Given the description of an element on the screen output the (x, y) to click on. 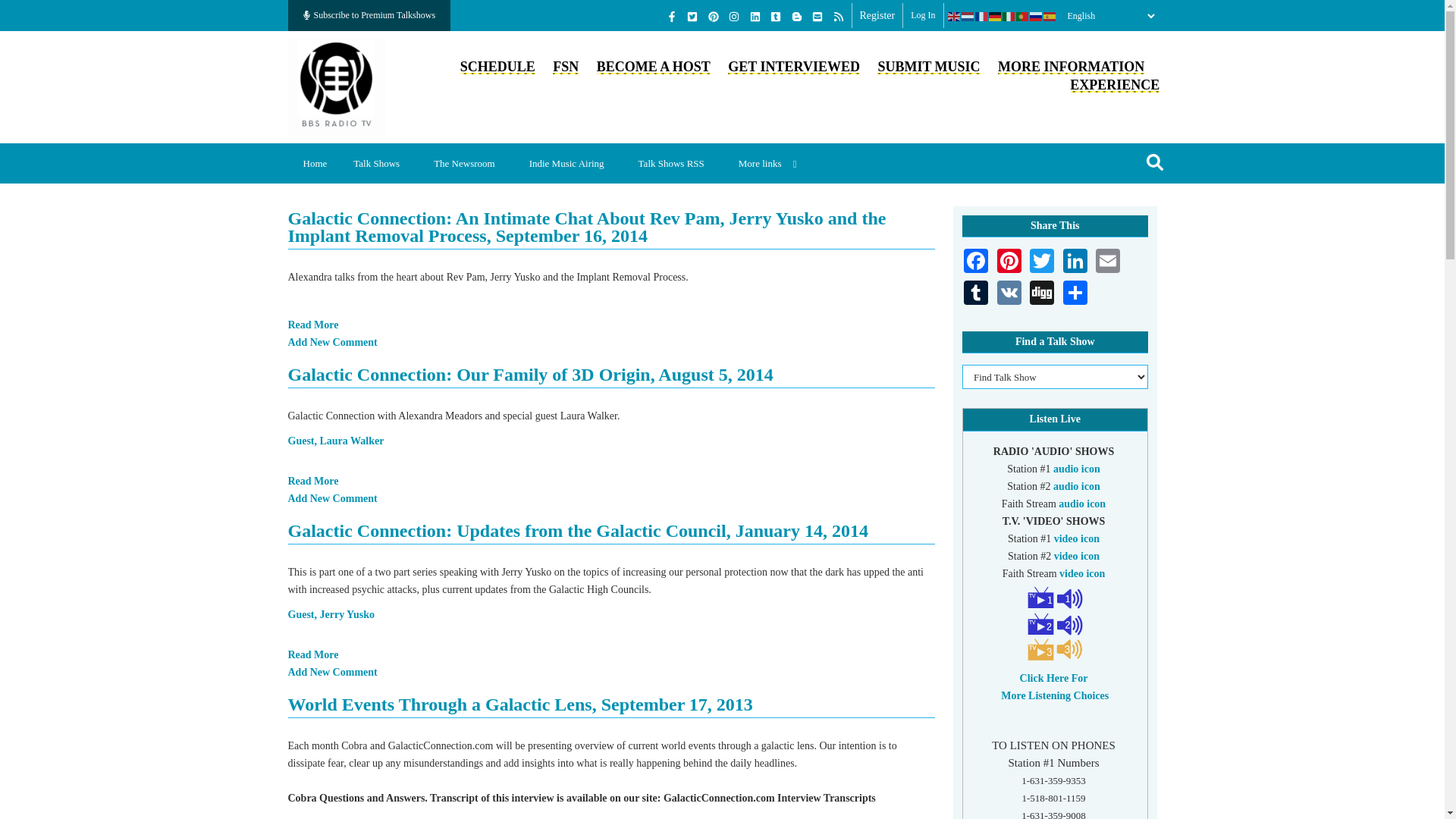
Talk Shows (382, 163)
GET INTERVIEWED (794, 66)
EXPERIENCE (1114, 84)
Register (877, 15)
SCHEDULE (497, 66)
English (953, 15)
Deutsch (995, 15)
BECOME A HOST (653, 66)
Nederlands (967, 15)
The Experience of Live Talk Shows Done Right! (1114, 84)
